Given the description of an element on the screen output the (x, y) to click on. 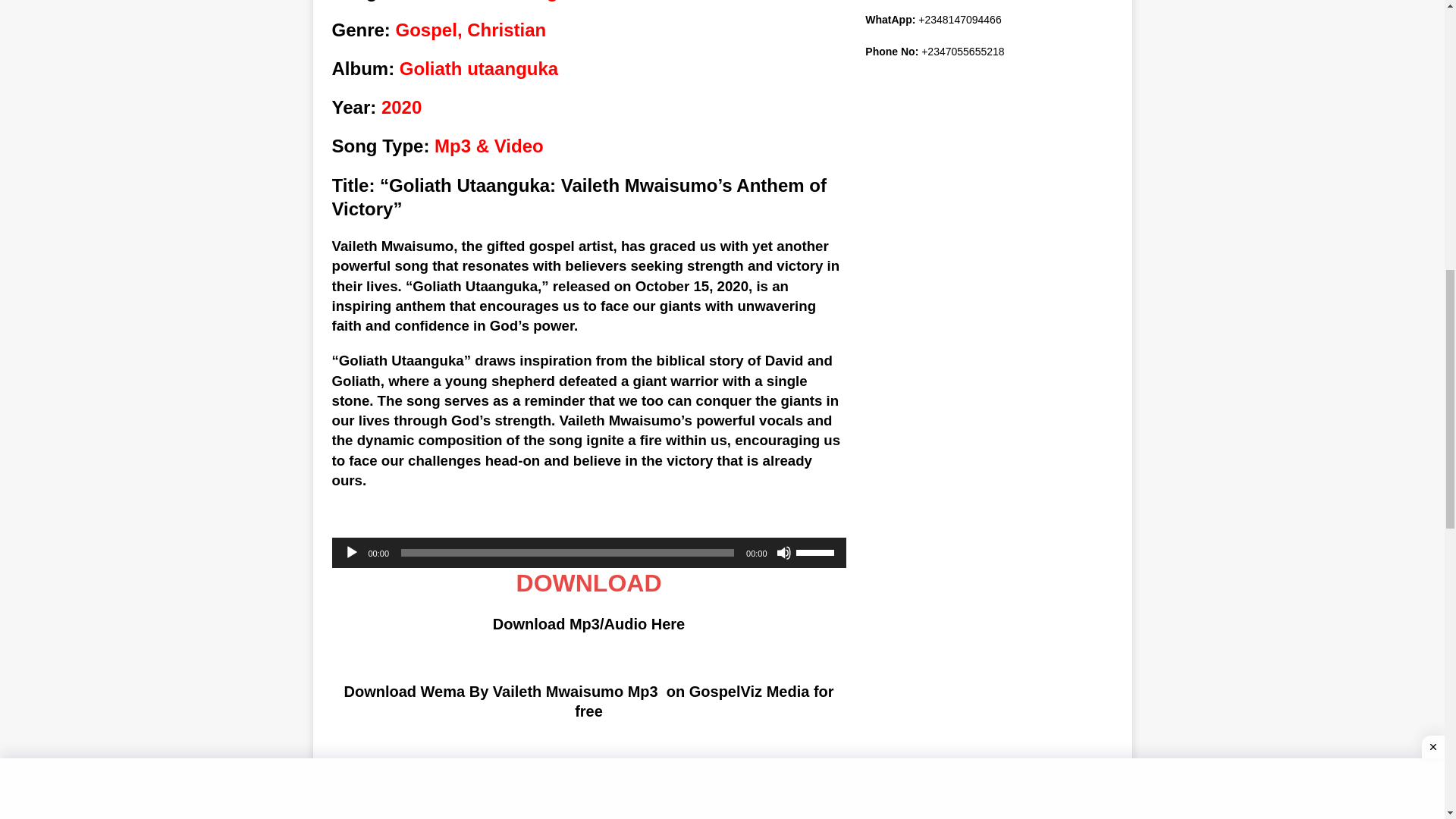
Mute (784, 552)
Play (351, 552)
CHECK ALSO:  Shamma - Mc Baby Ft Barakito Rodrigue (589, 812)
DOWNLOAD (589, 583)
